Given the description of an element on the screen output the (x, y) to click on. 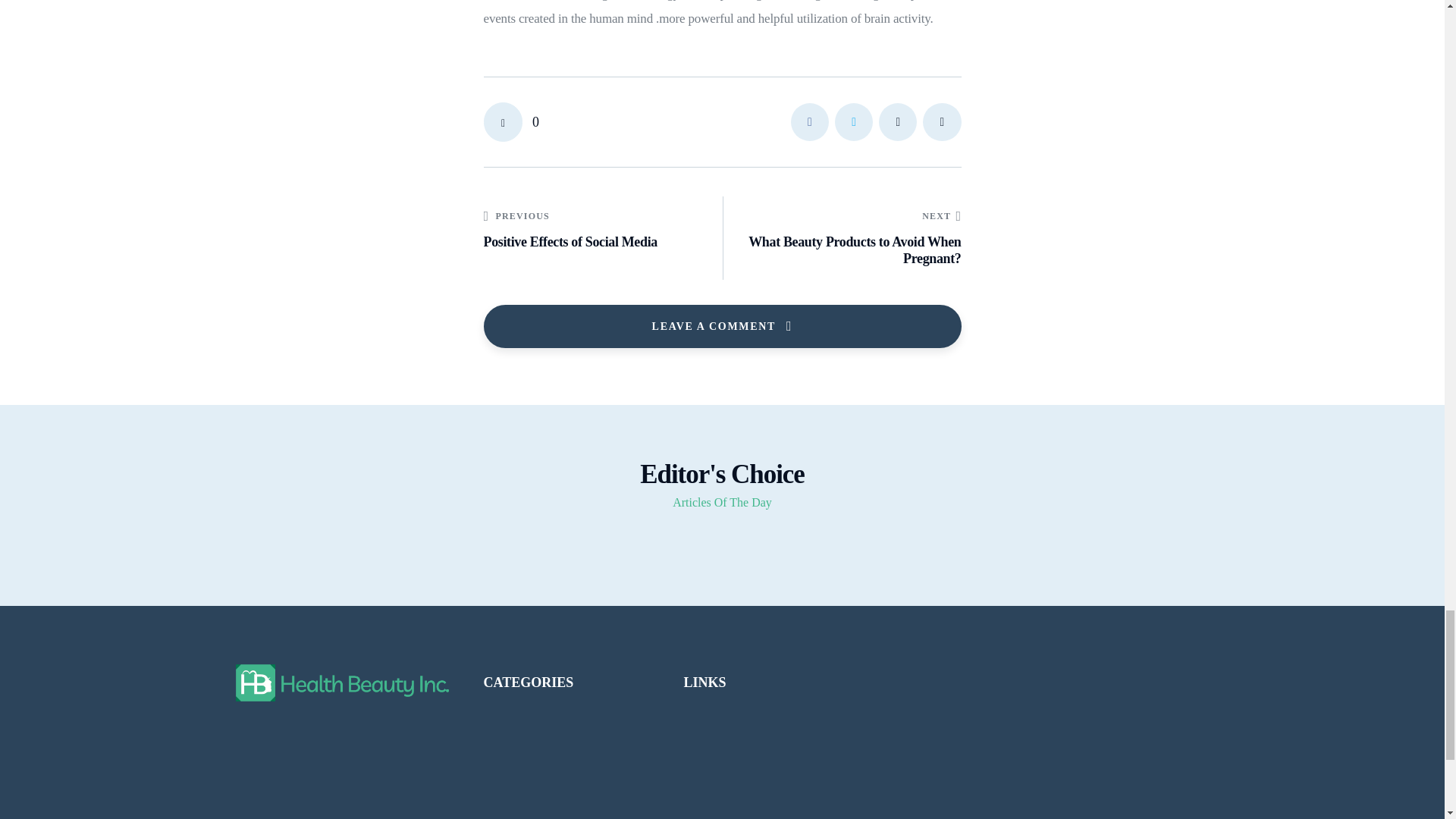
Copy URL to clipboard (941, 121)
Like (511, 121)
